Given the description of an element on the screen output the (x, y) to click on. 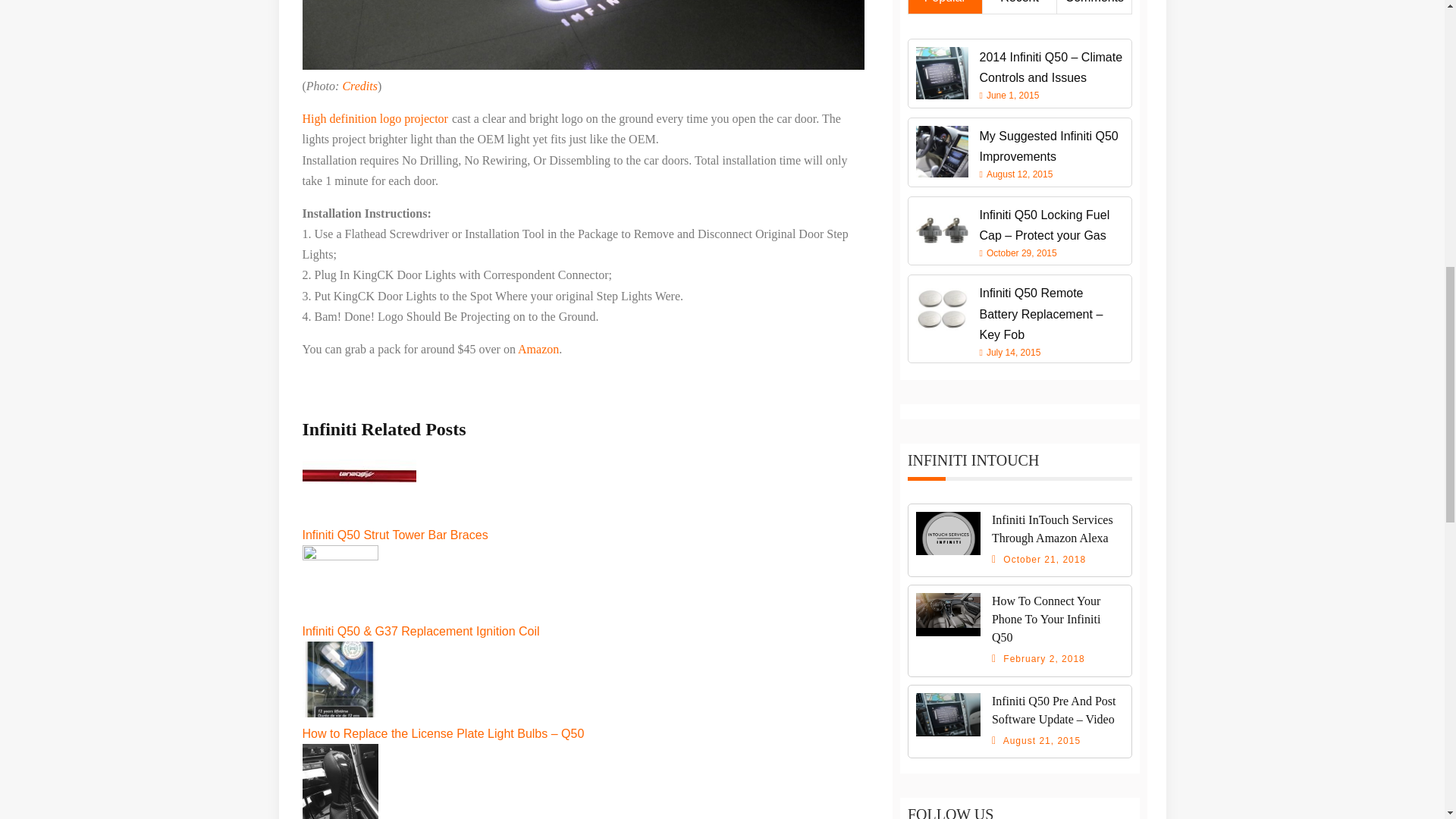
Infiniti Q50 Strut Tower Bar Braces (394, 523)
Credits (359, 85)
High definition logo projector (373, 118)
Amazon (538, 349)
Carbon Fiber Shift Knob Cover for Infiniti Q50 (424, 814)
